Given the description of an element on the screen output the (x, y) to click on. 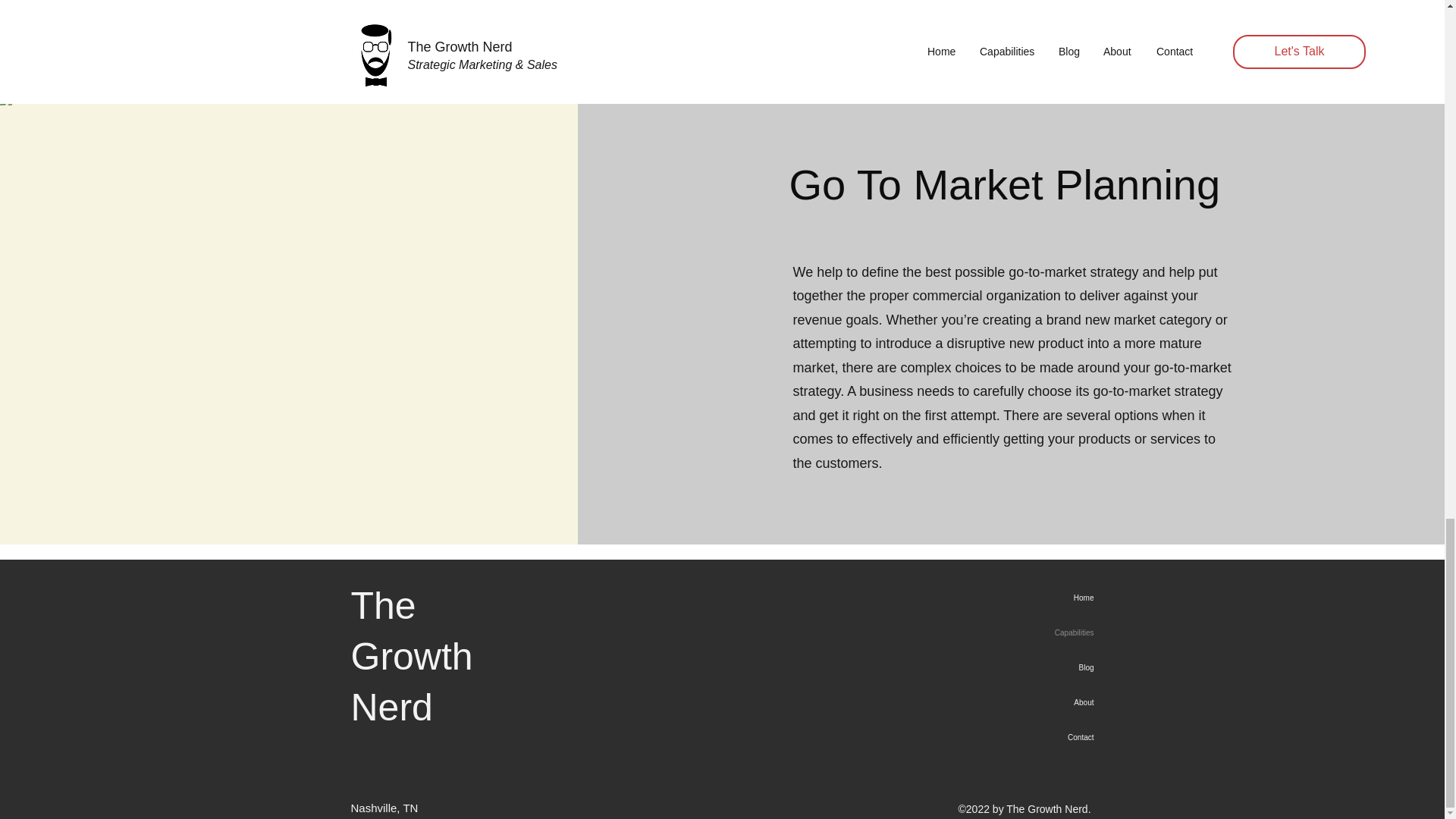
Blog (1046, 667)
Contact (1046, 737)
About (1046, 702)
Home (1046, 597)
